Given the description of an element on the screen output the (x, y) to click on. 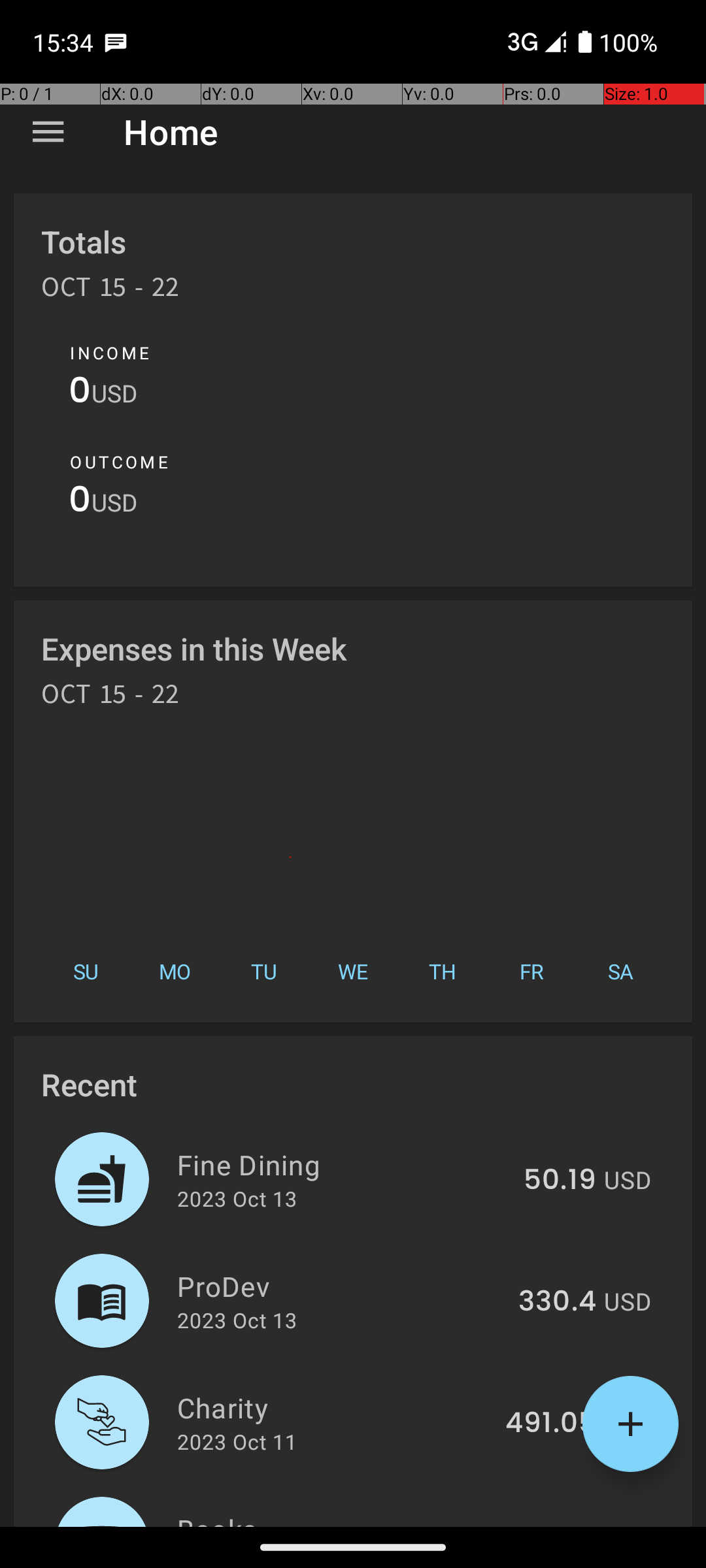
Totals Element type: android.widget.TextView (83, 240)
OCT 15 - 22 Element type: android.widget.TextView (110, 291)
INCOME Element type: android.widget.TextView (109, 352)
OUTCOME Element type: android.widget.TextView (118, 461)
Expenses in this Week Element type: android.widget.TextView (194, 648)
Fine Dining Element type: android.widget.TextView (342, 1164)
2023 Oct 13 Element type: android.widget.TextView (236, 1198)
50.19 Element type: android.widget.TextView (559, 1180)
ProDev Element type: android.widget.TextView (340, 1285)
330.4 Element type: android.widget.TextView (556, 1301)
Charity Element type: android.widget.TextView (333, 1407)
2023 Oct 11 Element type: android.widget.TextView (236, 1441)
491.05 Element type: android.widget.TextView (550, 1423)
Books Element type: android.widget.TextView (341, 1518)
24.73 Element type: android.widget.TextView (558, 1524)
SMS Messenger notification: Matteo Ibrahim Element type: android.widget.ImageView (115, 41)
